Given the description of an element on the screen output the (x, y) to click on. 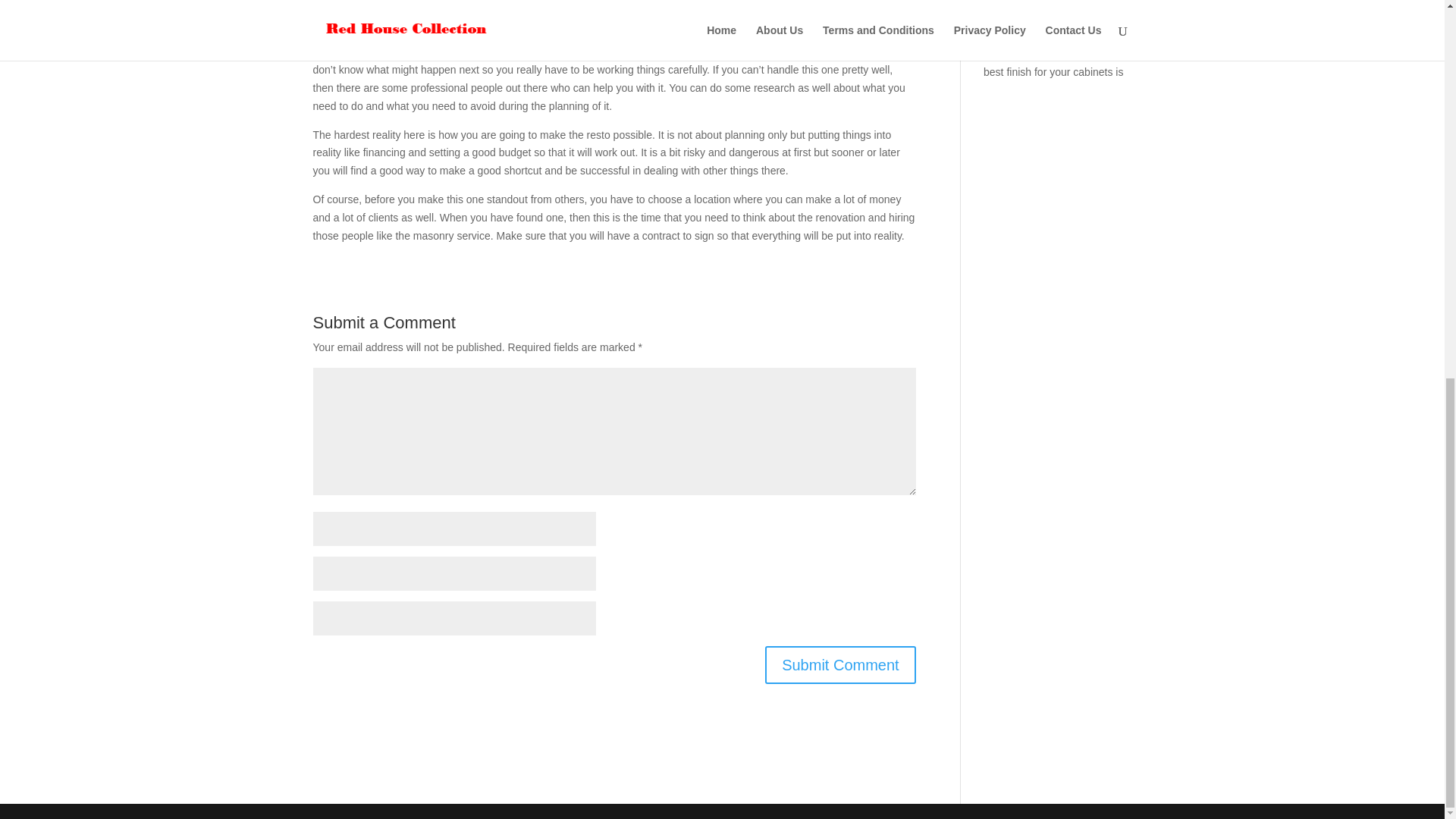
Submit Comment (840, 664)
Retaining Wall Contractor Checklist  (1043, 21)
Submit Comment (840, 664)
Paint Check: Know what the best finish for your cabinets is  (1054, 62)
